Given the description of an element on the screen output the (x, y) to click on. 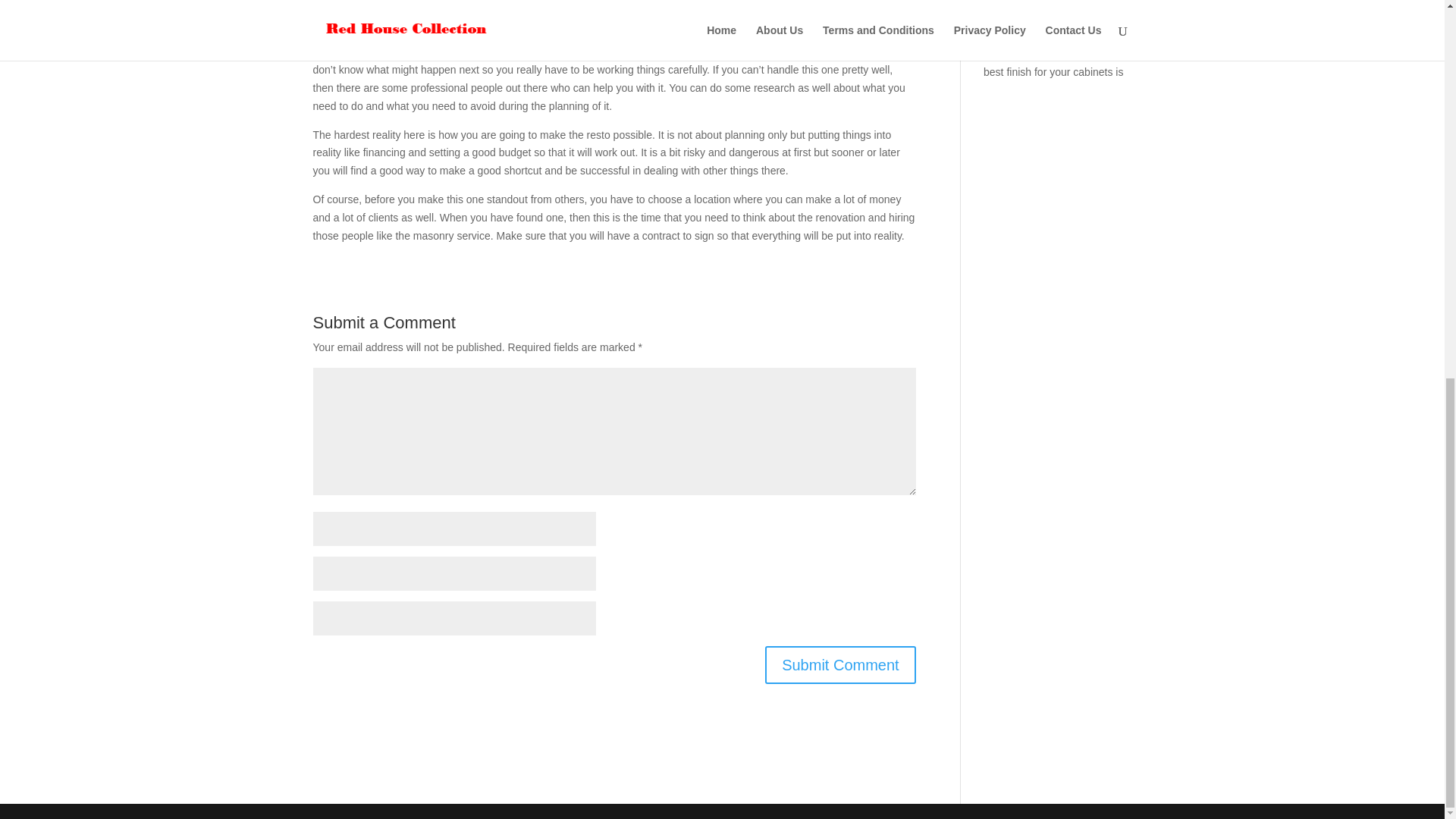
Submit Comment (840, 664)
Retaining Wall Contractor Checklist  (1043, 21)
Submit Comment (840, 664)
Paint Check: Know what the best finish for your cabinets is  (1054, 62)
